Given the description of an element on the screen output the (x, y) to click on. 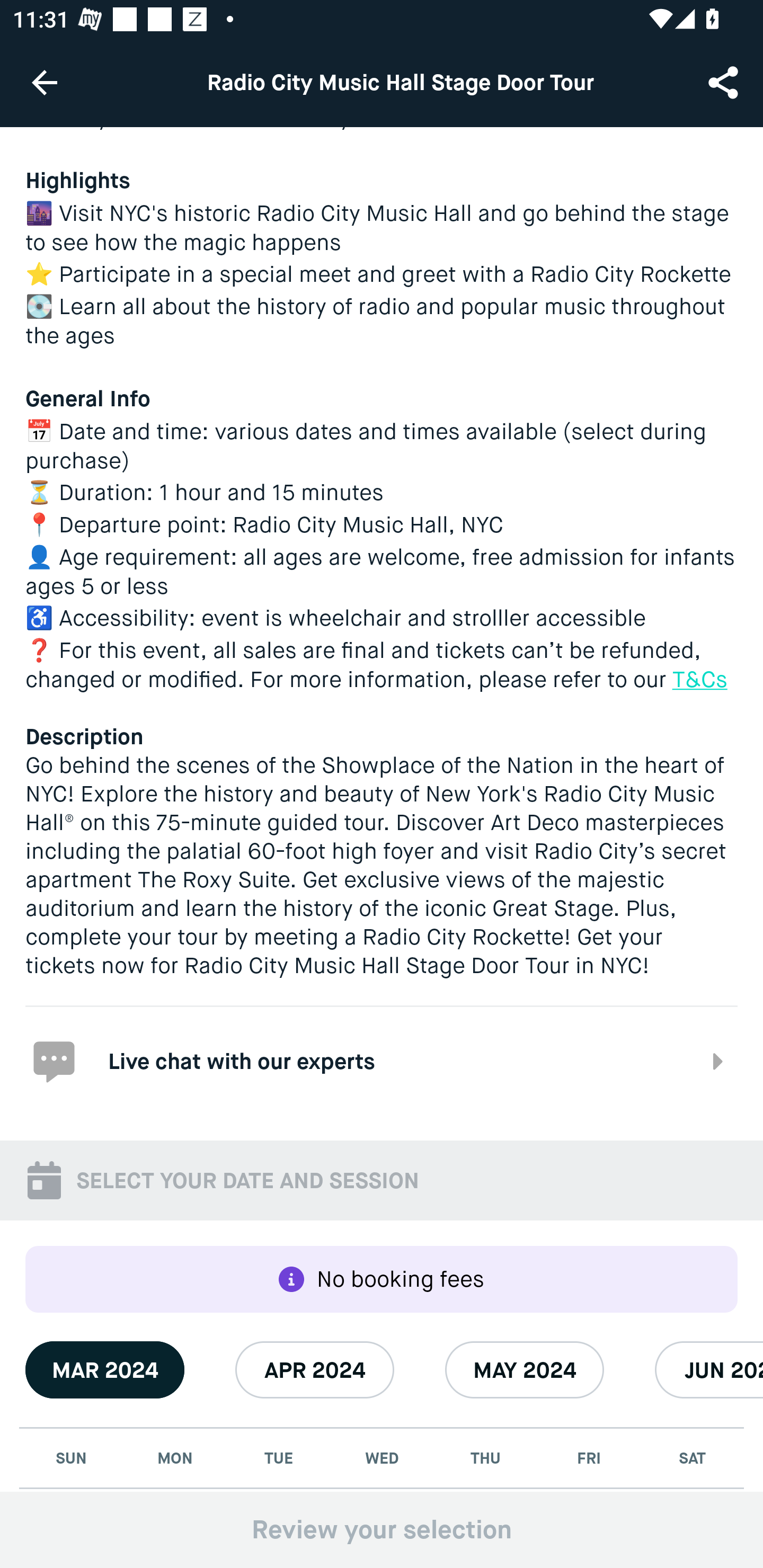
Navigate up (44, 82)
Share (724, 81)
Live chat with our experts (381, 1059)
MAR 2024 (104, 1369)
APR 2024 (314, 1369)
MAY 2024 (524, 1369)
JUN 2024 (708, 1369)
Review your selection (381, 1529)
